Given the description of an element on the screen output the (x, y) to click on. 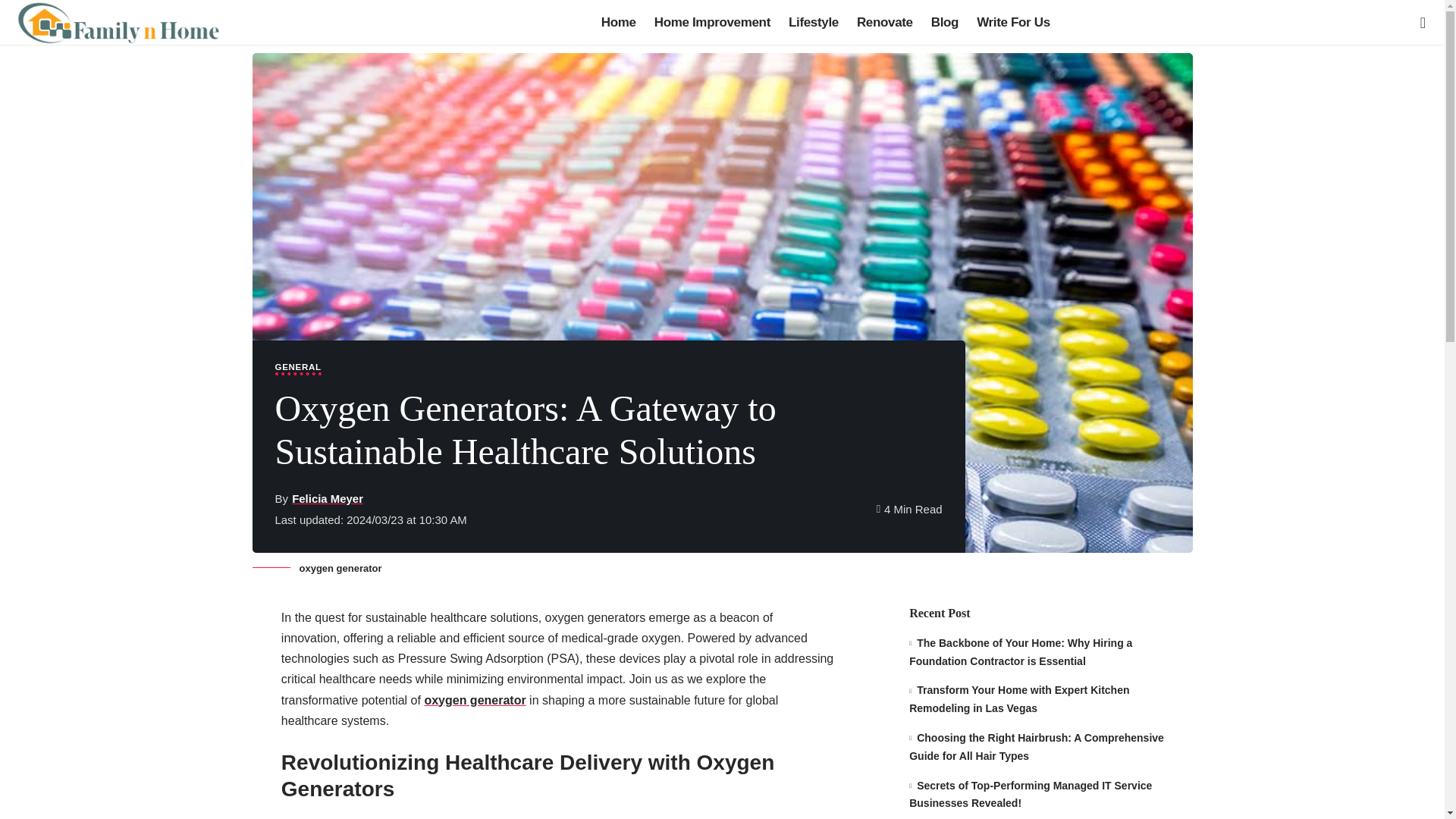
oxygen generator (474, 699)
Home (618, 22)
Home Improvement (711, 22)
Felicia Meyer (327, 497)
Write For Us (1013, 22)
Lifestyle (812, 22)
GENERAL (297, 369)
Family N Home (116, 22)
Blog (944, 22)
Renovate (884, 22)
